Given the description of an element on the screen output the (x, y) to click on. 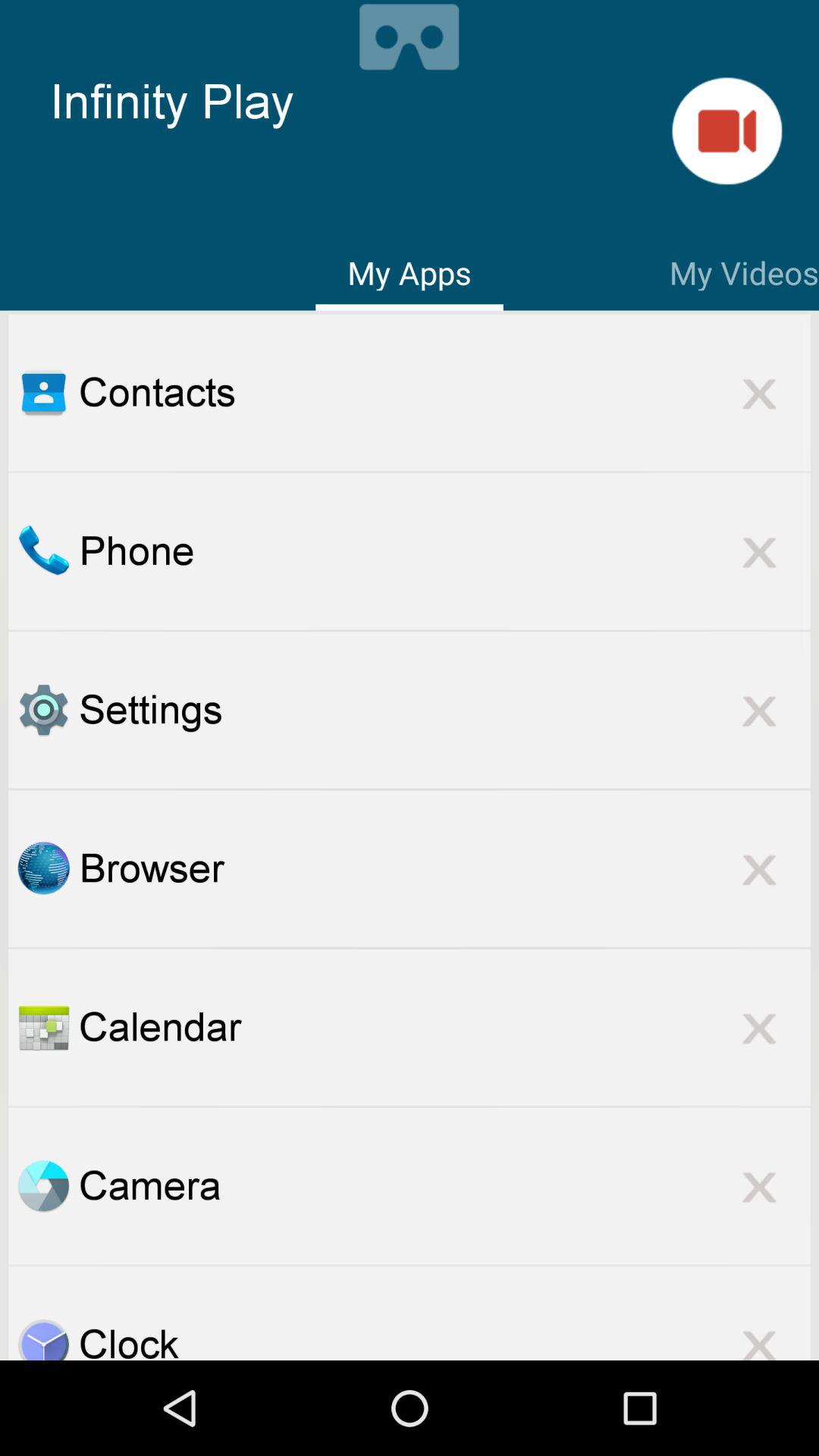
go do coulsed (759, 1334)
